Given the description of an element on the screen output the (x, y) to click on. 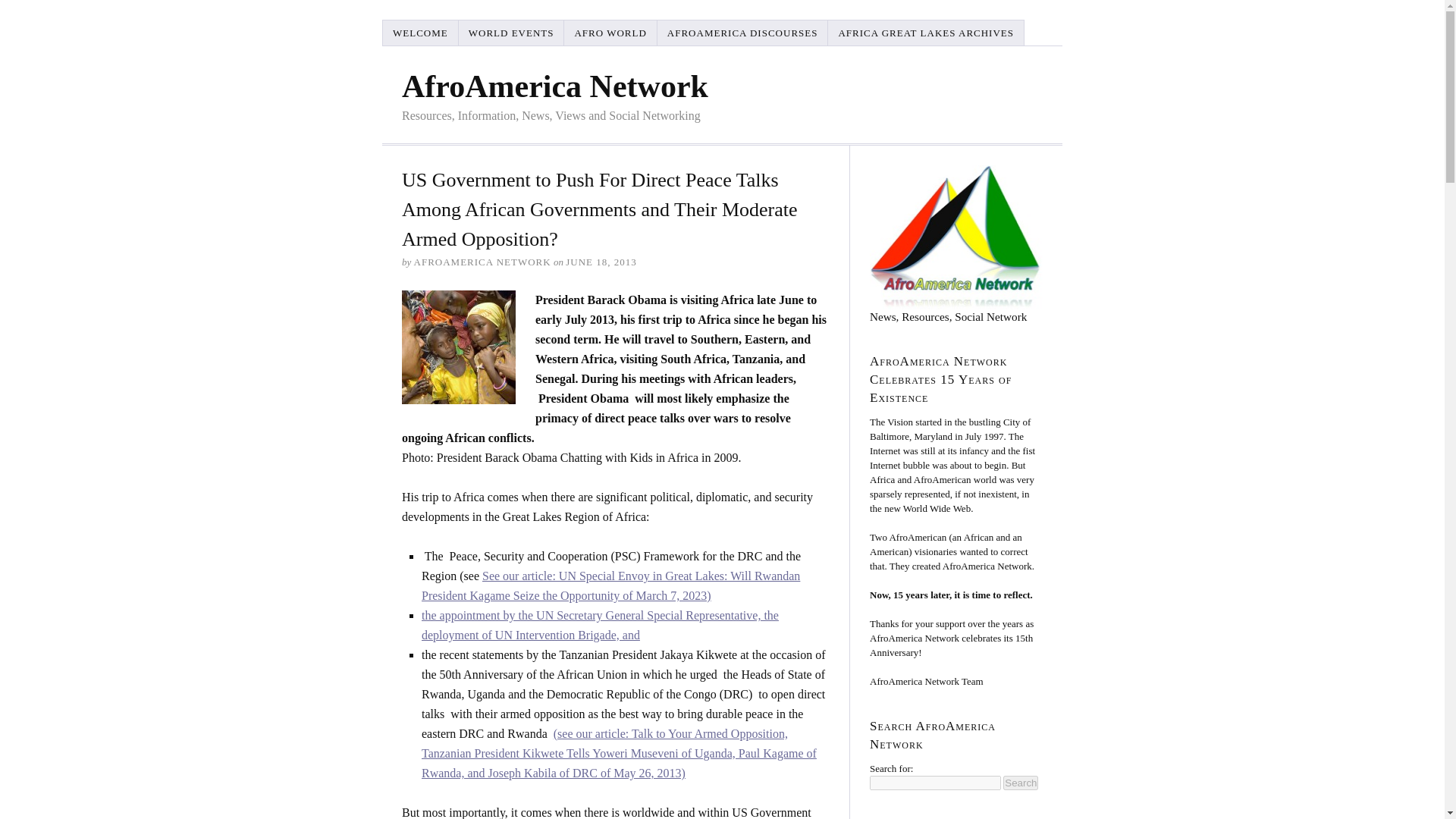
WELCOME (420, 32)
Search (1020, 782)
WORLD EVENTS (511, 32)
AFROAMERICA DISCOURSES (743, 32)
2013-06-18 (601, 261)
Search (1020, 782)
AFRICA GREAT LAKES ARCHIVES (926, 32)
AFRO WORLD (610, 32)
AfroAmerica Network (554, 85)
